Given the description of an element on the screen output the (x, y) to click on. 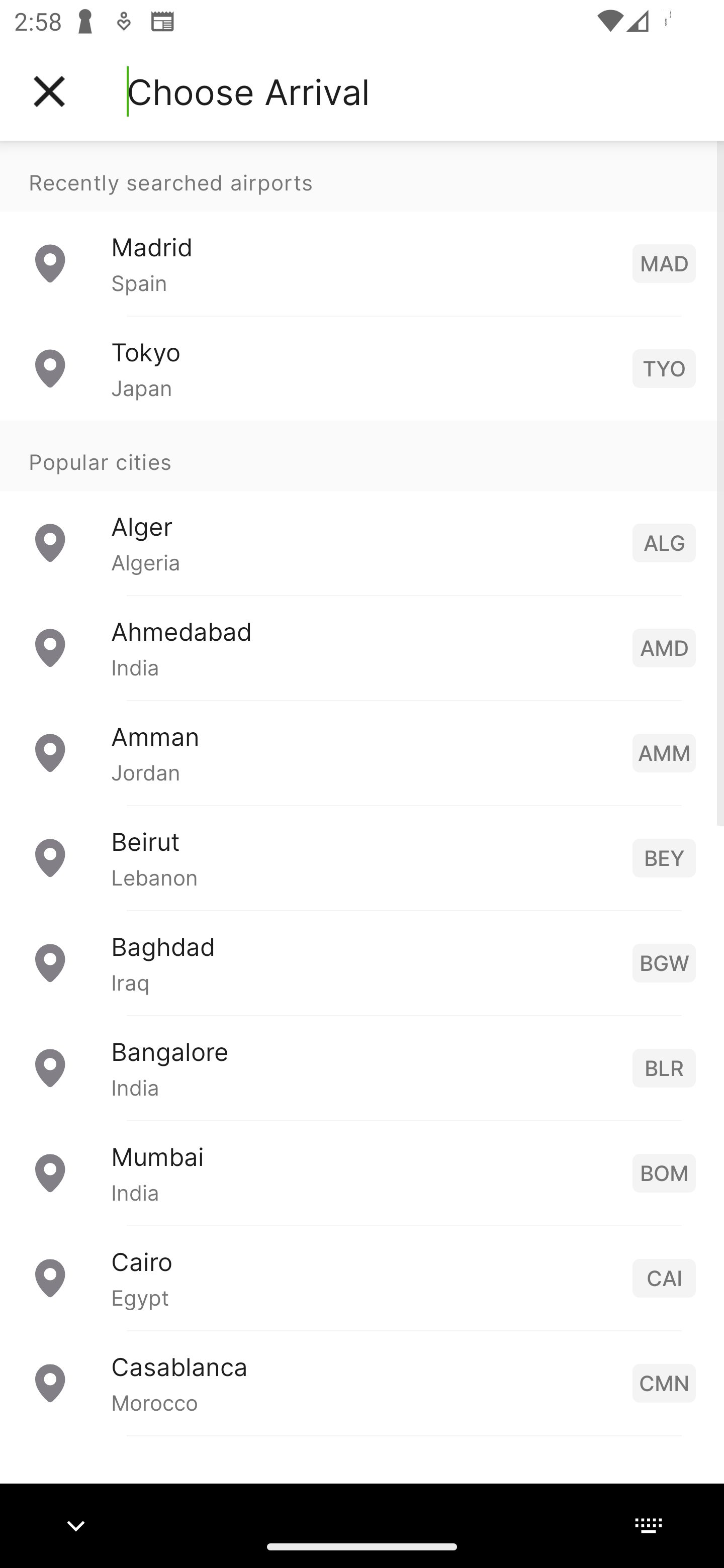
Choose Arrival (247, 91)
Recently searched airports Madrid Spain MAD (362, 228)
Recently searched airports (362, 176)
Tokyo Japan TYO (362, 367)
Popular cities Alger Algeria ALG (362, 507)
Popular cities (362, 455)
Ahmedabad India AMD (362, 646)
Amman Jordan AMM (362, 751)
Beirut Lebanon BEY (362, 856)
Baghdad Iraq BGW (362, 961)
Bangalore India BLR (362, 1066)
Mumbai India BOM (362, 1171)
Cairo Egypt CAI (362, 1276)
Casablanca Morocco CMN (362, 1381)
